Given the description of an element on the screen output the (x, y) to click on. 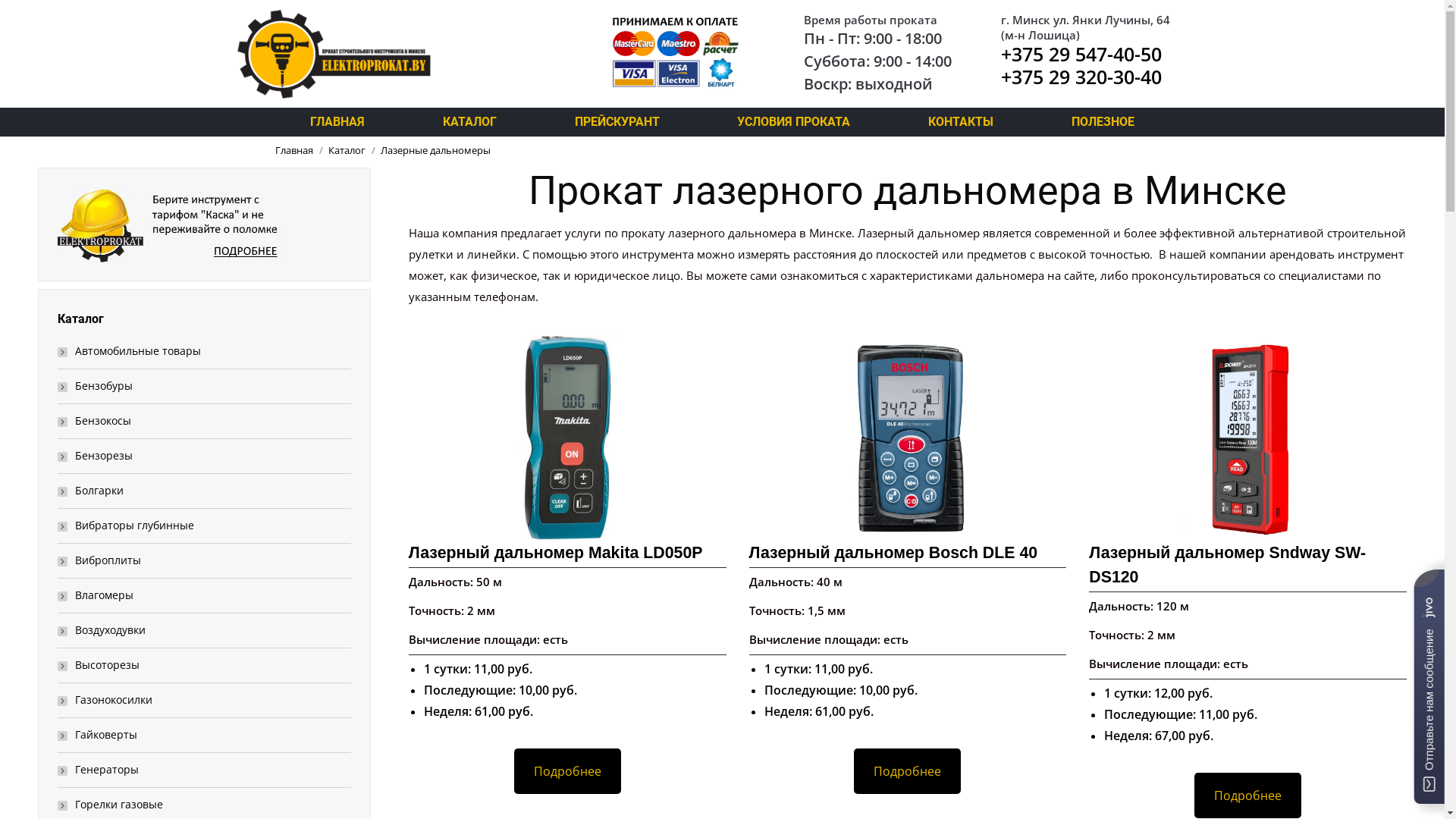
+375 29 320-30-40 Element type: text (1081, 76)
+375 29 547-40-50 Element type: text (1081, 53)
